Given the description of an element on the screen output the (x, y) to click on. 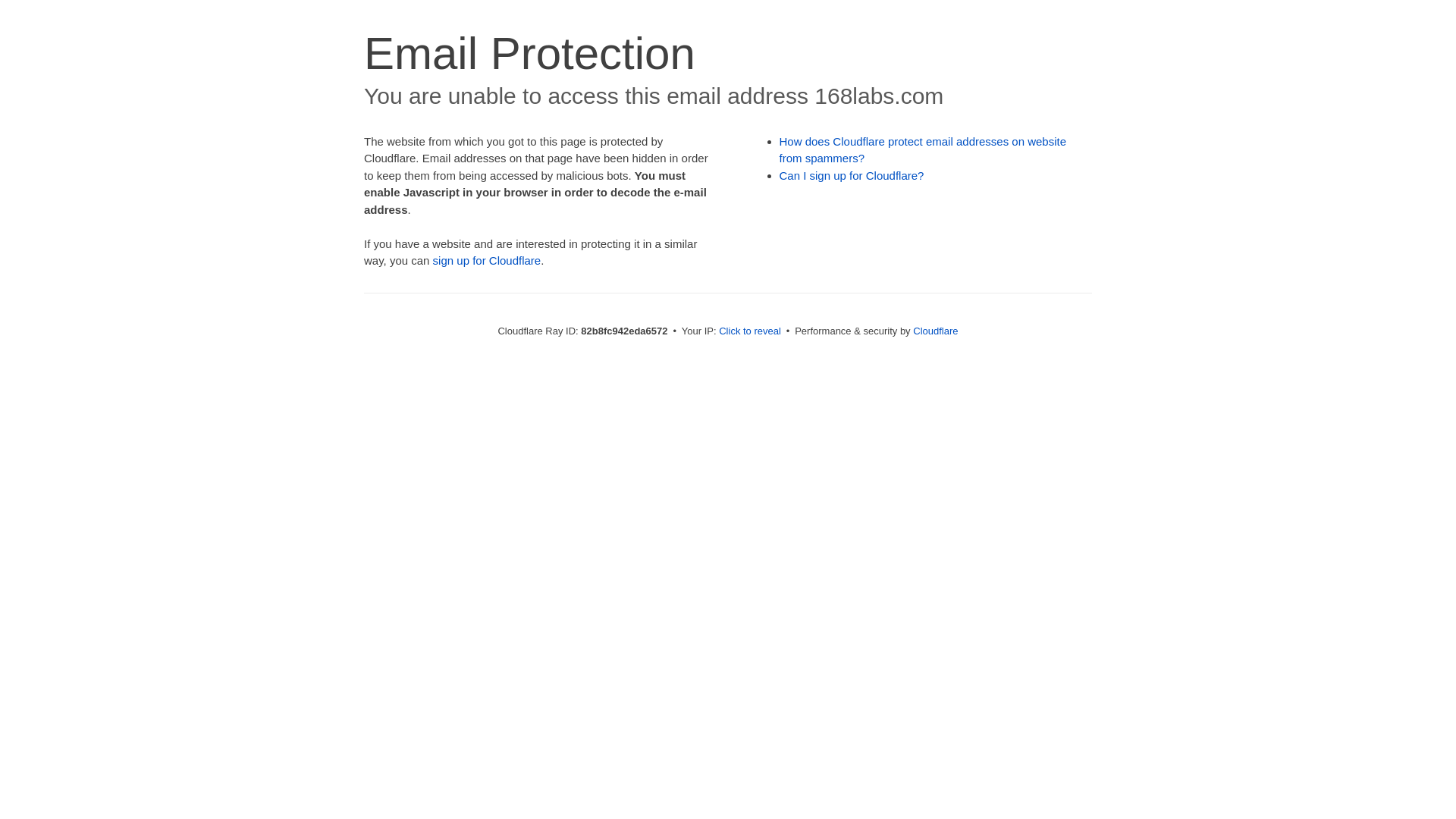
Click to reveal Element type: text (749, 330)
Can I sign up for Cloudflare? Element type: text (851, 175)
Cloudflare Element type: text (935, 330)
sign up for Cloudflare Element type: text (487, 260)
